Given the description of an element on the screen output the (x, y) to click on. 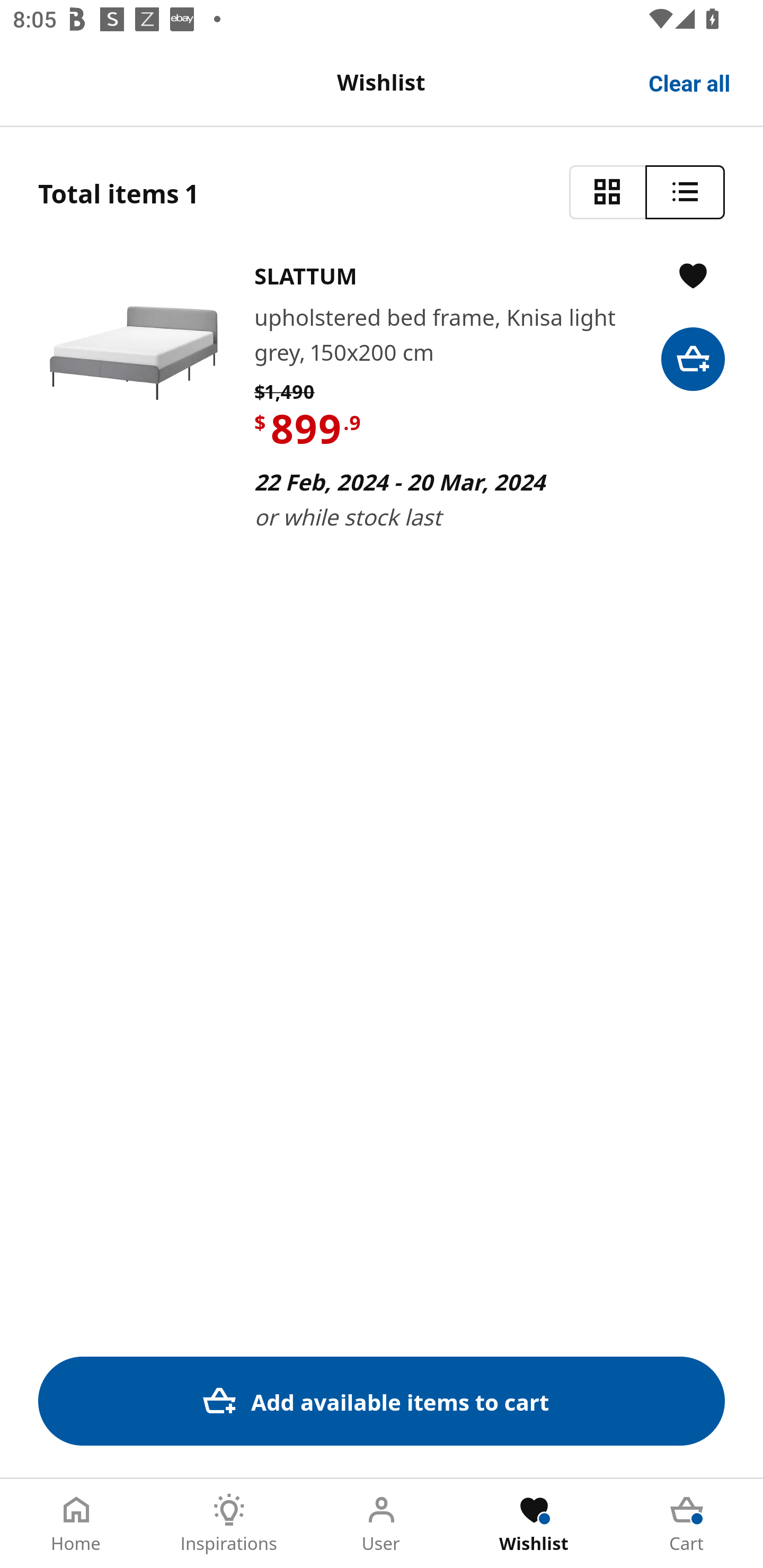
Clear all (689, 81)
Add available items to cart (381, 1400)
Home
Tab 1 of 5 (76, 1522)
Inspirations
Tab 2 of 5 (228, 1522)
User
Tab 3 of 5 (381, 1522)
Wishlist
Tab 4 of 5 (533, 1522)
Cart
Tab 5 of 5 (686, 1522)
